Given the description of an element on the screen output the (x, y) to click on. 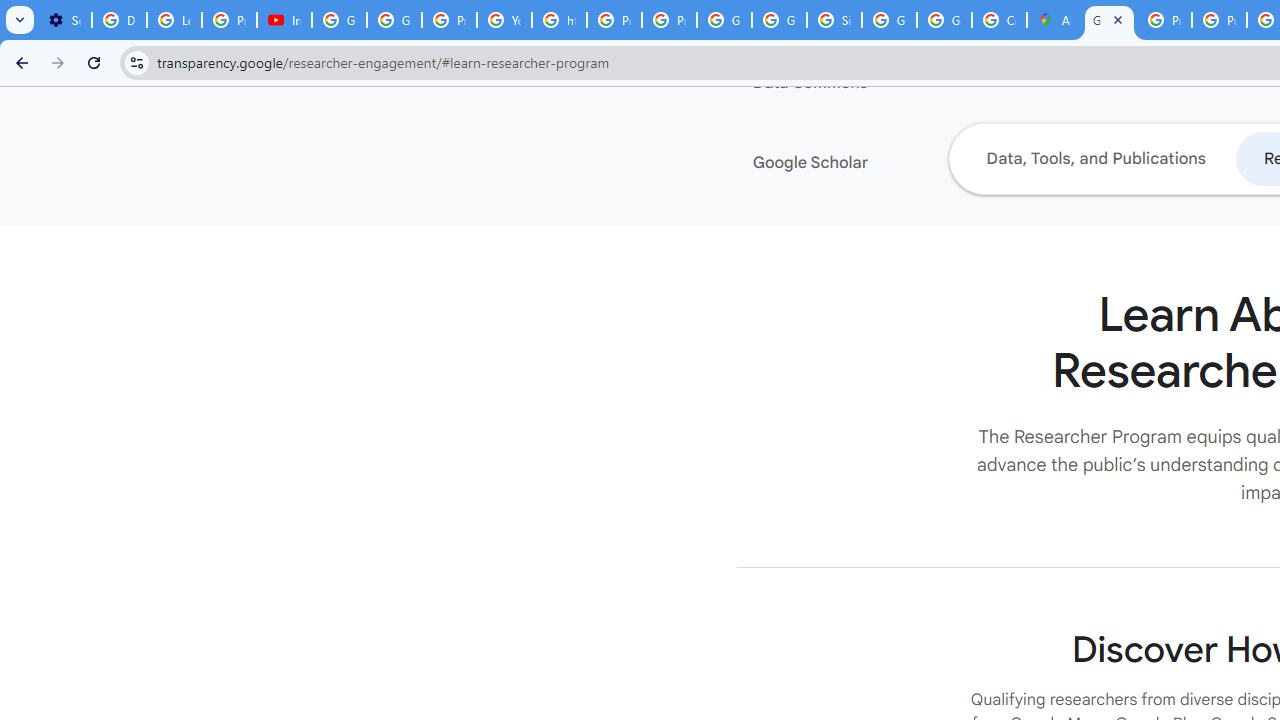
Sign in - Google Accounts (833, 20)
Data Commons (874, 83)
Create your Google Account (998, 20)
